Given the description of an element on the screen output the (x, y) to click on. 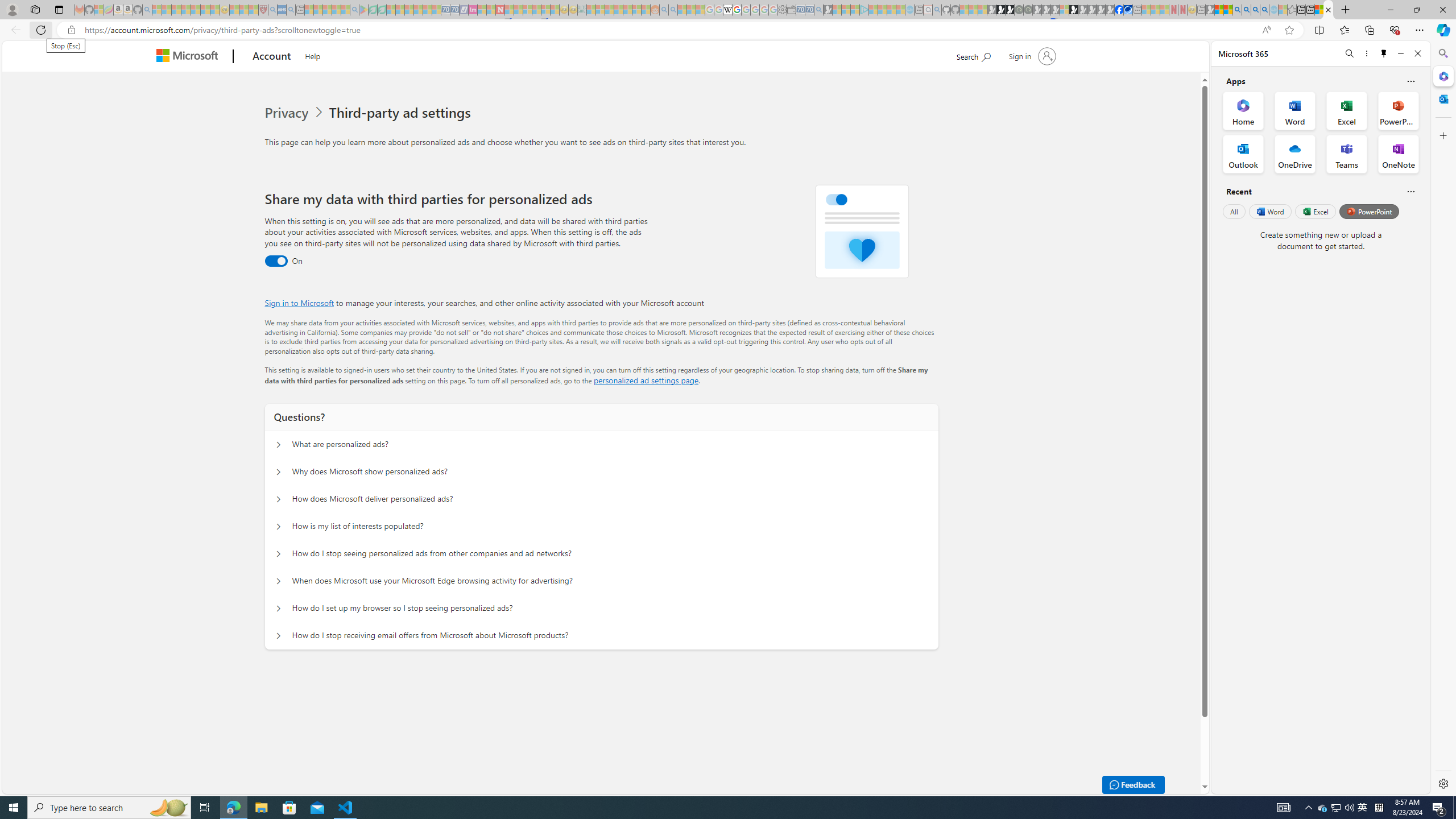
2009 Bing officially replaced Live Search on June 3 - Search (1246, 9)
list of asthma inhalers uk - Search - Sleeping (272, 9)
Excel Office App (1346, 110)
Play Zoo Boom in your browser | Games from Microsoft Start (1000, 9)
Outlook Office App (1243, 154)
Nordace | Facebook (1118, 9)
The Weather Channel - MSN - Sleeping (175, 9)
utah sues federal government - Search - Sleeping (290, 9)
